Given the description of an element on the screen output the (x, y) to click on. 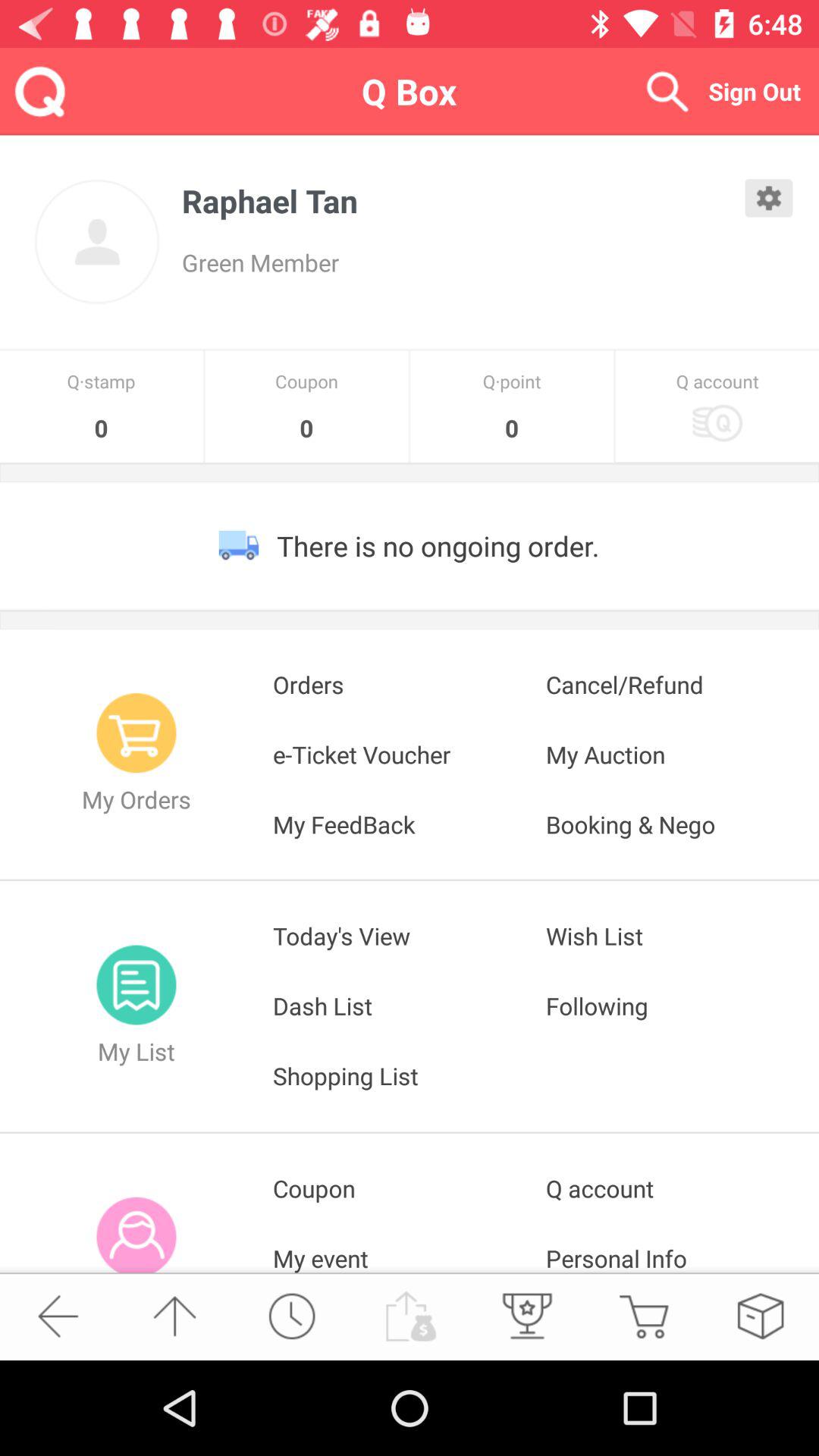
select the app below orders icon (682, 754)
